Given the description of an element on the screen output the (x, y) to click on. 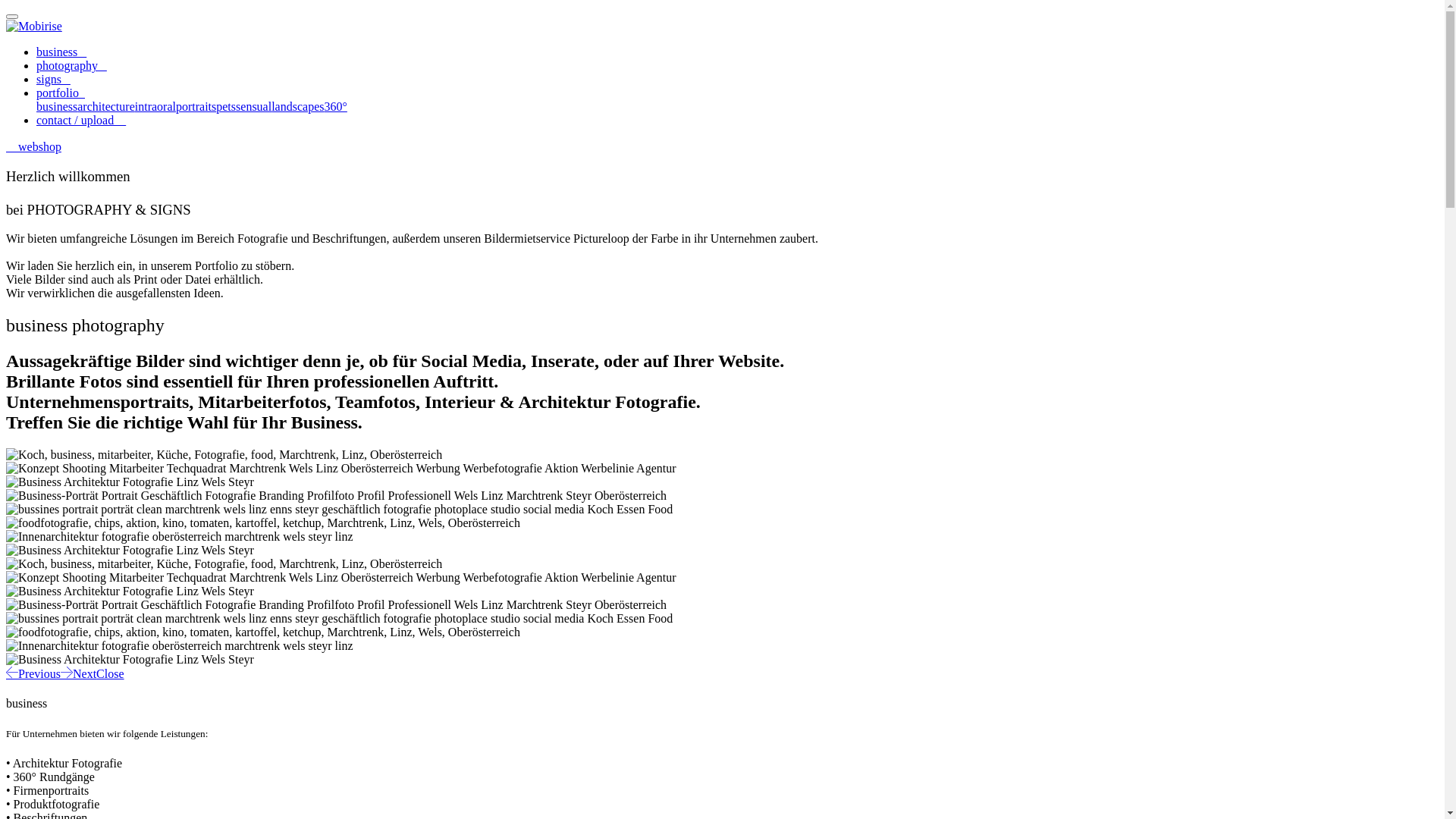
Previous Element type: text (33, 673)
architecture Element type: text (105, 106)
Close Element type: text (109, 673)
Next Element type: text (78, 673)
sensual Element type: text (253, 106)
webshop Element type: text (33, 146)
Food Fotografie Element type: hover (179, 645)
Architektur Fotografie (Hotel Fischer, Marchtrenk)  Element type: hover (130, 550)
photography    Element type: text (71, 65)
portfolio   Element type: text (60, 92)
Werbe Kampagne Fa. Techquadrat Element type: hover (341, 468)
Business Portrait Element type: hover (339, 509)
landscapes Element type: text (297, 106)
Food Fotografie Element type: hover (263, 523)
Architektur Fotografie (Hotel Fischer, Marchtrenk)  Element type: hover (130, 659)
signs    Element type: text (53, 78)
portraits Element type: text (195, 106)
business Element type: text (56, 106)
Food Fotografie Element type: hover (179, 536)
Food Fotografie Element type: hover (263, 632)
Business Portrait Element type: hover (339, 618)
contact / upload     Element type: text (80, 119)
intraoral Element type: text (154, 106)
pets Element type: text (225, 106)
Werbe Kampagne Fa. Techquadrat Element type: hover (341, 577)
business    Element type: text (61, 51)
